Given the description of an element on the screen output the (x, y) to click on. 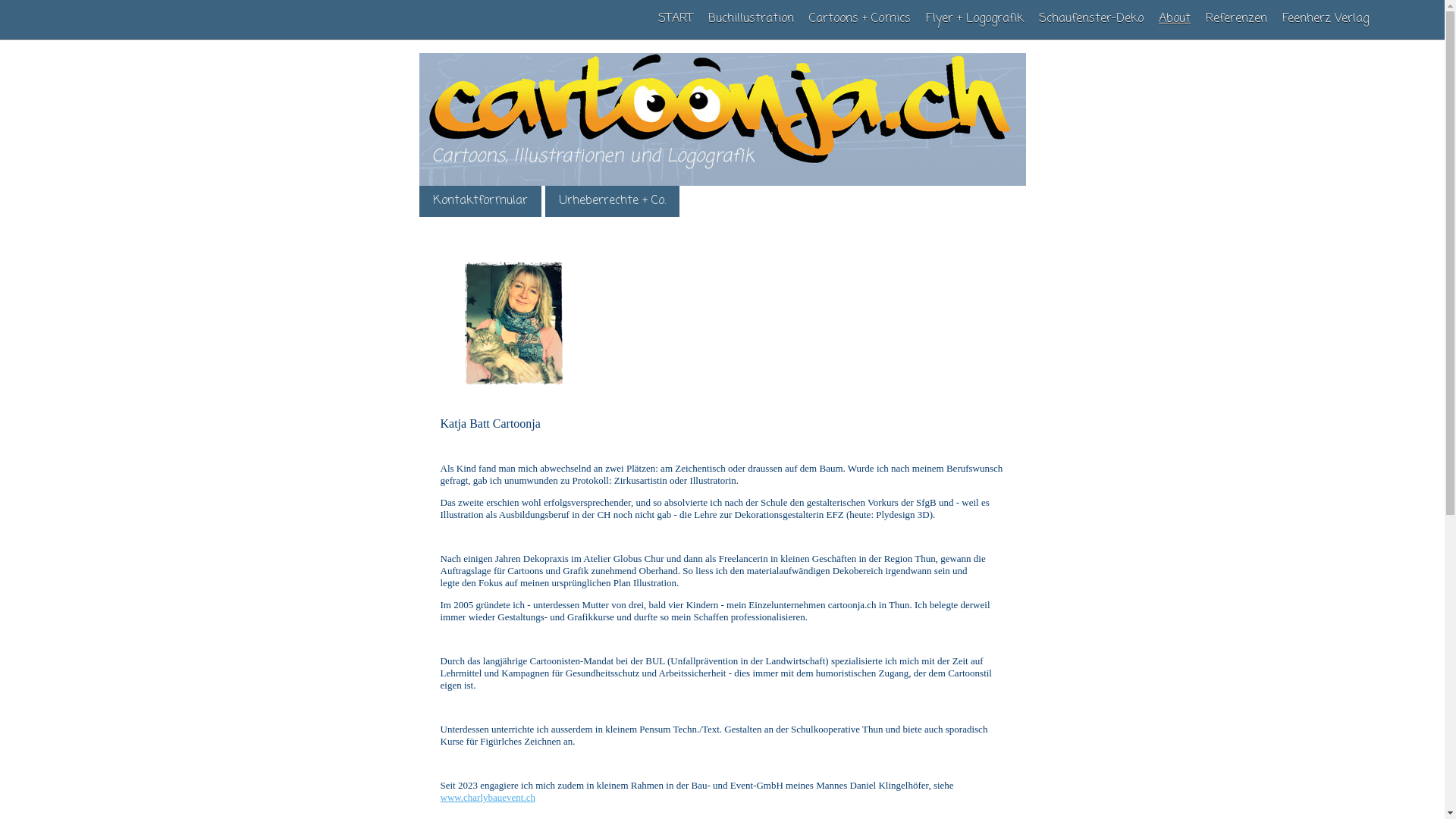
Cartoons + Comics Element type: text (859, 18)
About Element type: text (1174, 18)
Buchillustration Element type: text (750, 18)
www.charlybauevent.ch Element type: text (487, 797)
Schaufenster-Deko Element type: text (1090, 18)
Referenzen Element type: text (1236, 18)
Urheberrechte + Co. Element type: text (611, 200)
Flyer + Logografik Element type: text (974, 18)
START Element type: text (675, 18)
Feenherz Verlag Element type: text (1325, 18)
Kontaktformular Element type: text (479, 200)
Cartoons, Illustrationen und Logografik Element type: text (721, 182)
